Given the description of an element on the screen output the (x, y) to click on. 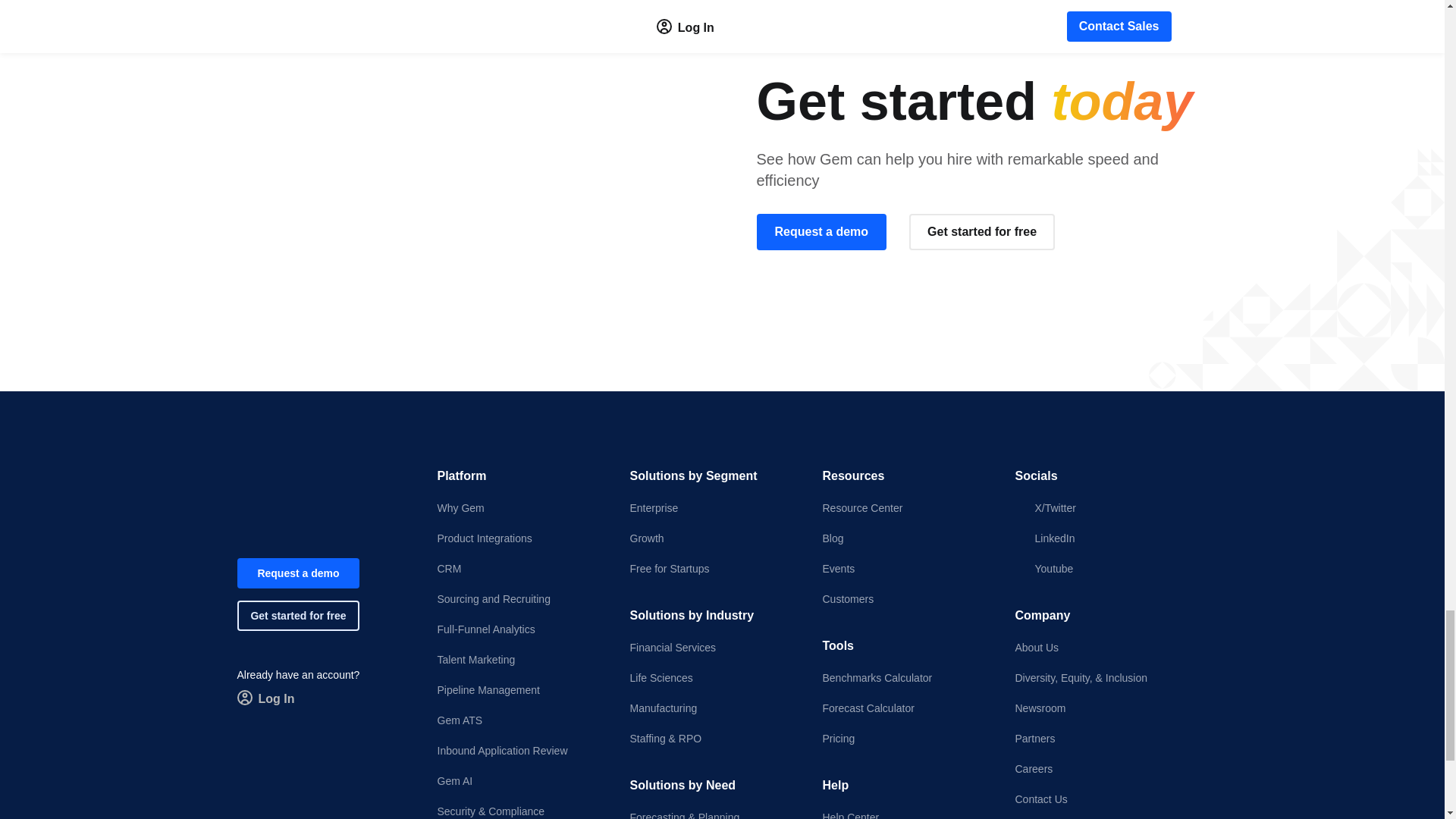
Financial Services (712, 647)
Inbound Application Review (520, 750)
CRM (520, 568)
Pipeline Management (520, 689)
Product Integrations (520, 538)
Free for Startups (712, 568)
Request a demo (297, 572)
Full-Funnel Analytics (520, 629)
Gem AI (520, 780)
Growth (712, 538)
